Given the description of an element on the screen output the (x, y) to click on. 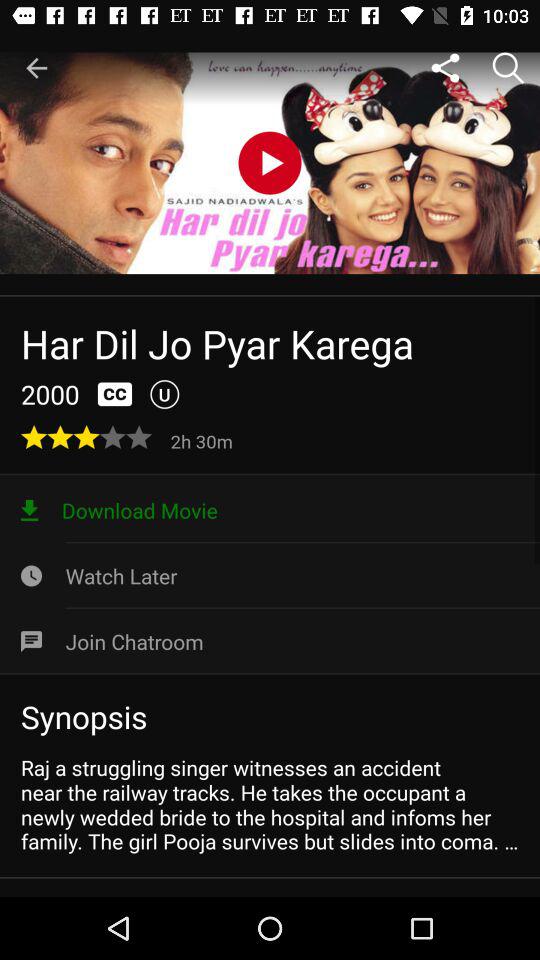
turn off the icon at the top left corner (36, 68)
